Given the description of an element on the screen output the (x, y) to click on. 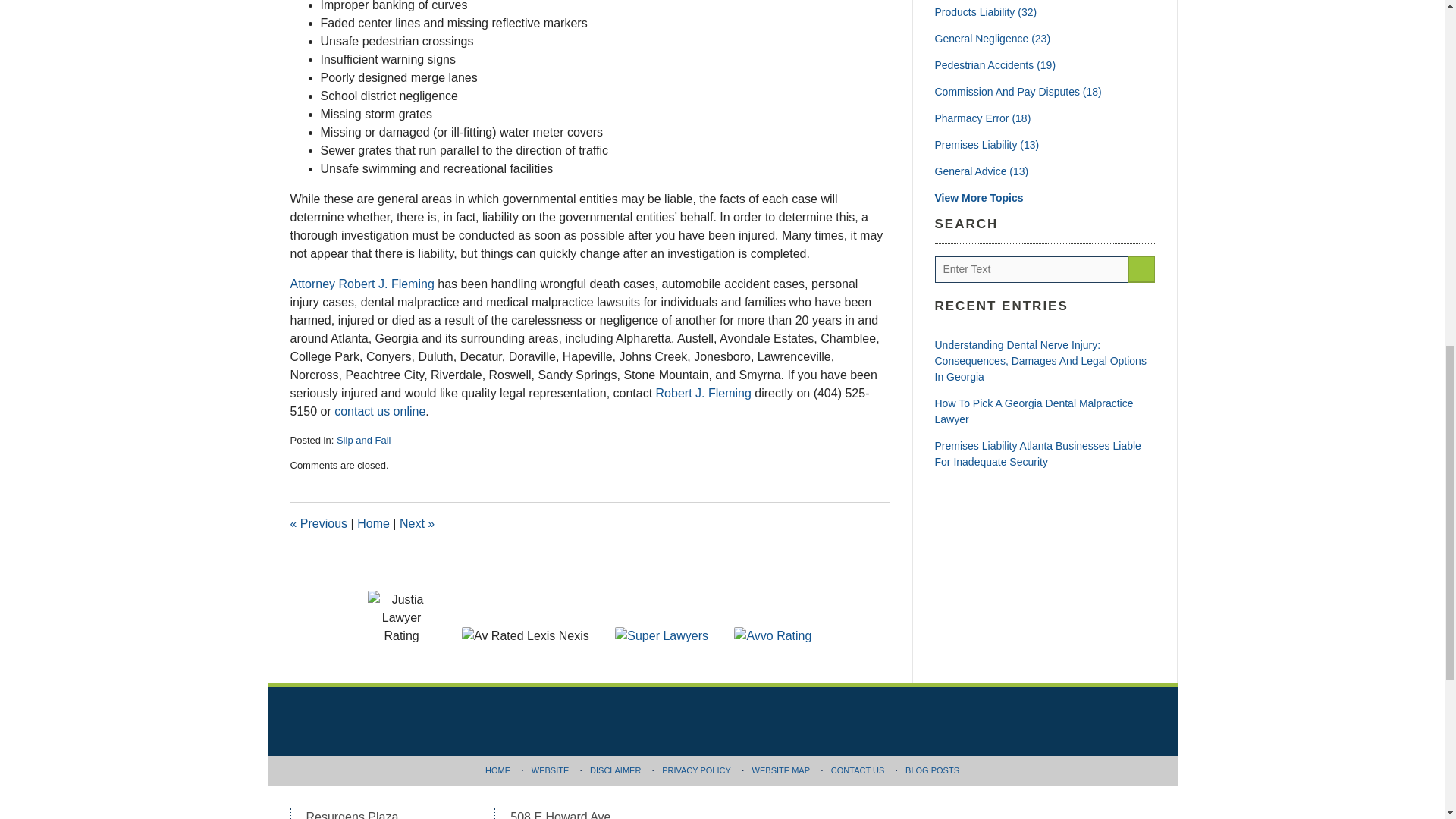
contact us online (379, 410)
Hiring the Right Georgia Injury Lawyer (318, 522)
Home (373, 522)
Attorney Robert J. Fleming (361, 283)
Slip and Fall (363, 439)
Gwinnett County Pedestrian Death Crash Caused by Texting (415, 522)
View all posts in Slip and Fall (363, 439)
Robert J. Fleming (703, 392)
